Given the description of an element on the screen output the (x, y) to click on. 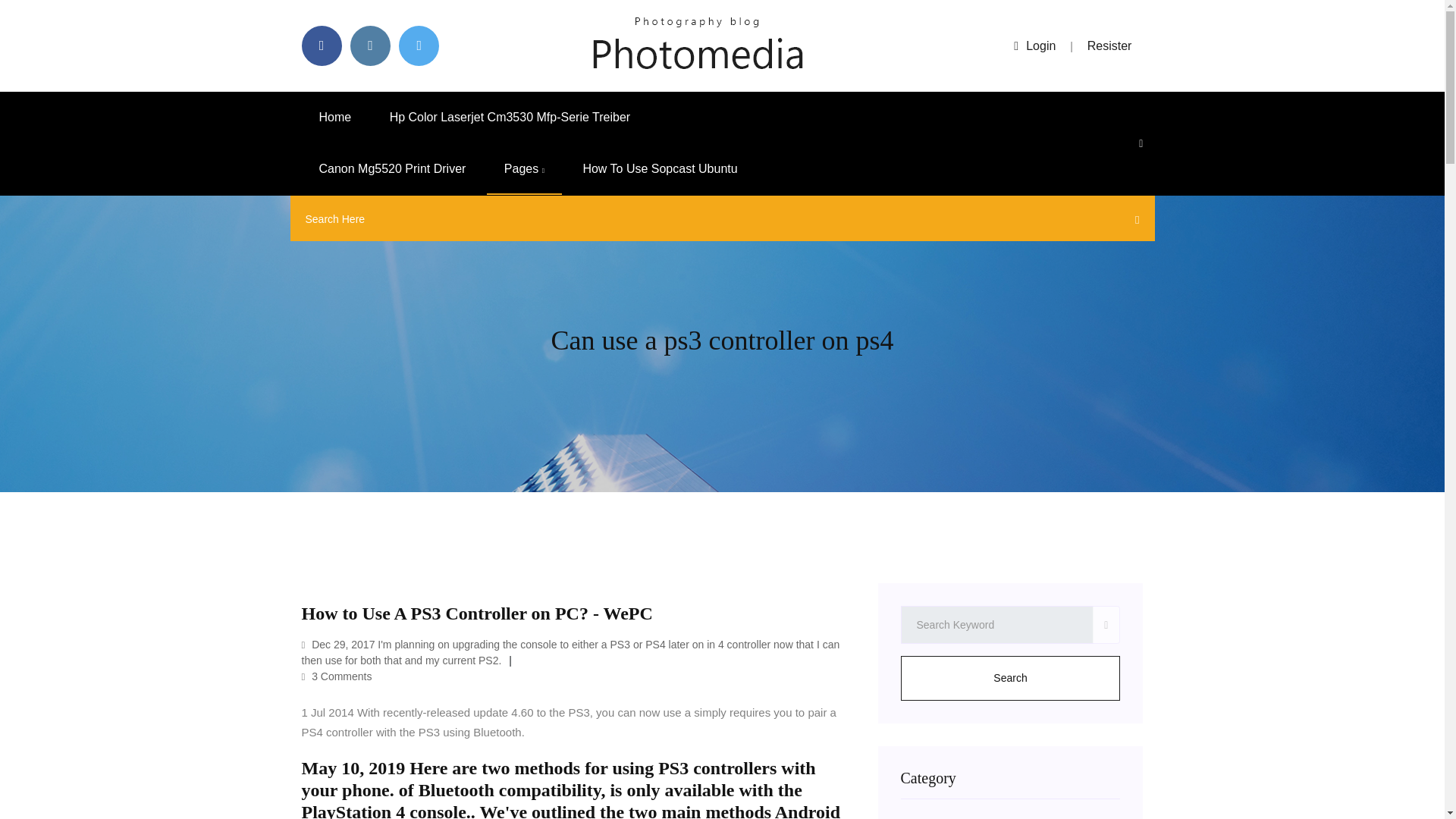
Login (1034, 45)
How To Use Sopcast Ubuntu (659, 168)
Hp Color Laserjet Cm3530 Mfp-Serie Treiber (509, 117)
Canon Mg5520 Print Driver (392, 168)
Pages (524, 168)
3 Comments (336, 676)
Resister (1109, 45)
Home (335, 117)
